Given the description of an element on the screen output the (x, y) to click on. 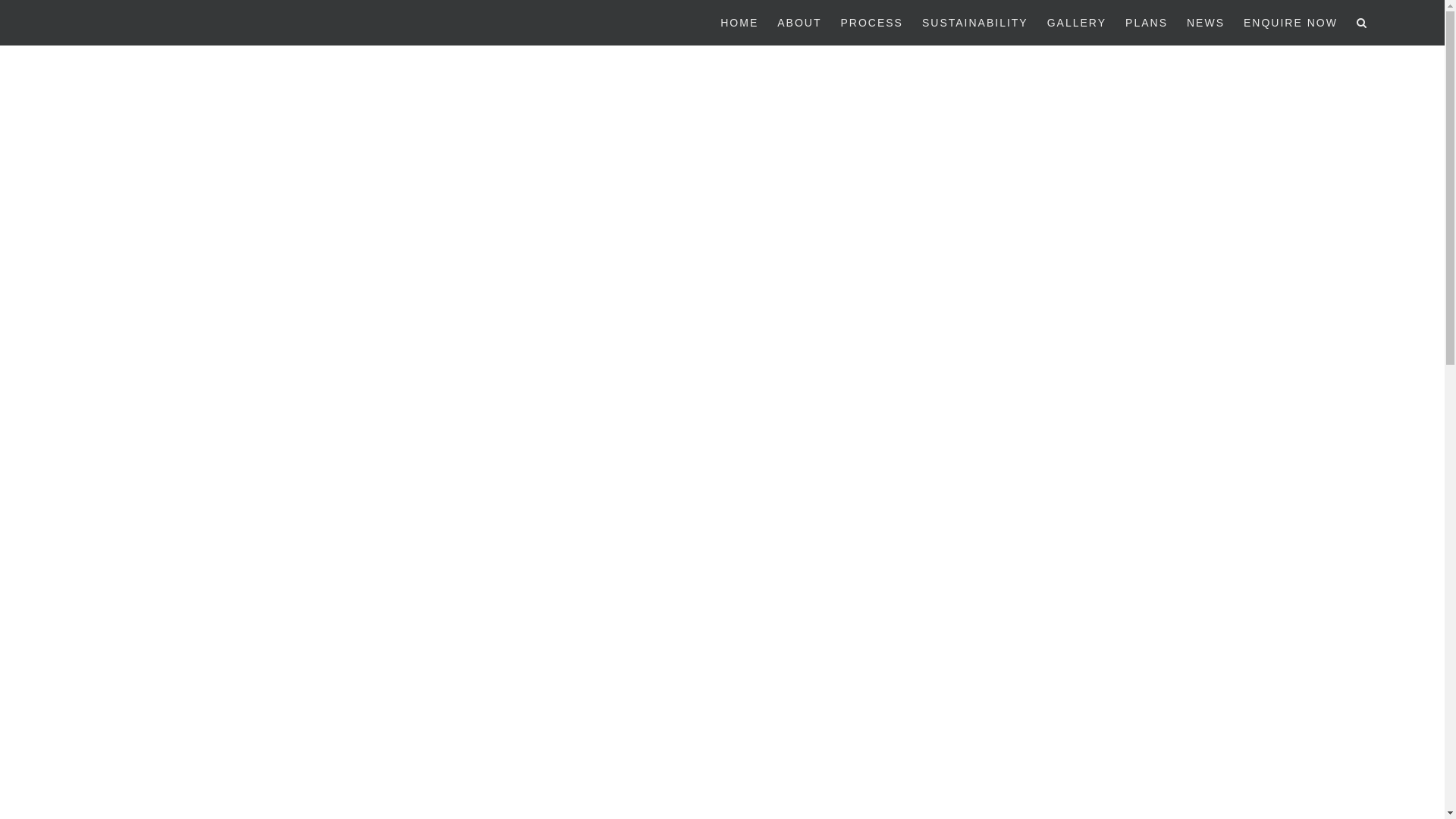
Search Element type: hover (1362, 22)
SUSTAINABILITY Element type: text (975, 22)
ENQUIRE NOW Element type: text (1290, 22)
PROCESS Element type: text (871, 22)
GALLERY Element type: text (1076, 22)
PLANS Element type: text (1146, 22)
ABOUT Element type: text (799, 22)
NEWS Element type: text (1205, 22)
HOME Element type: text (739, 22)
